Given the description of an element on the screen output the (x, y) to click on. 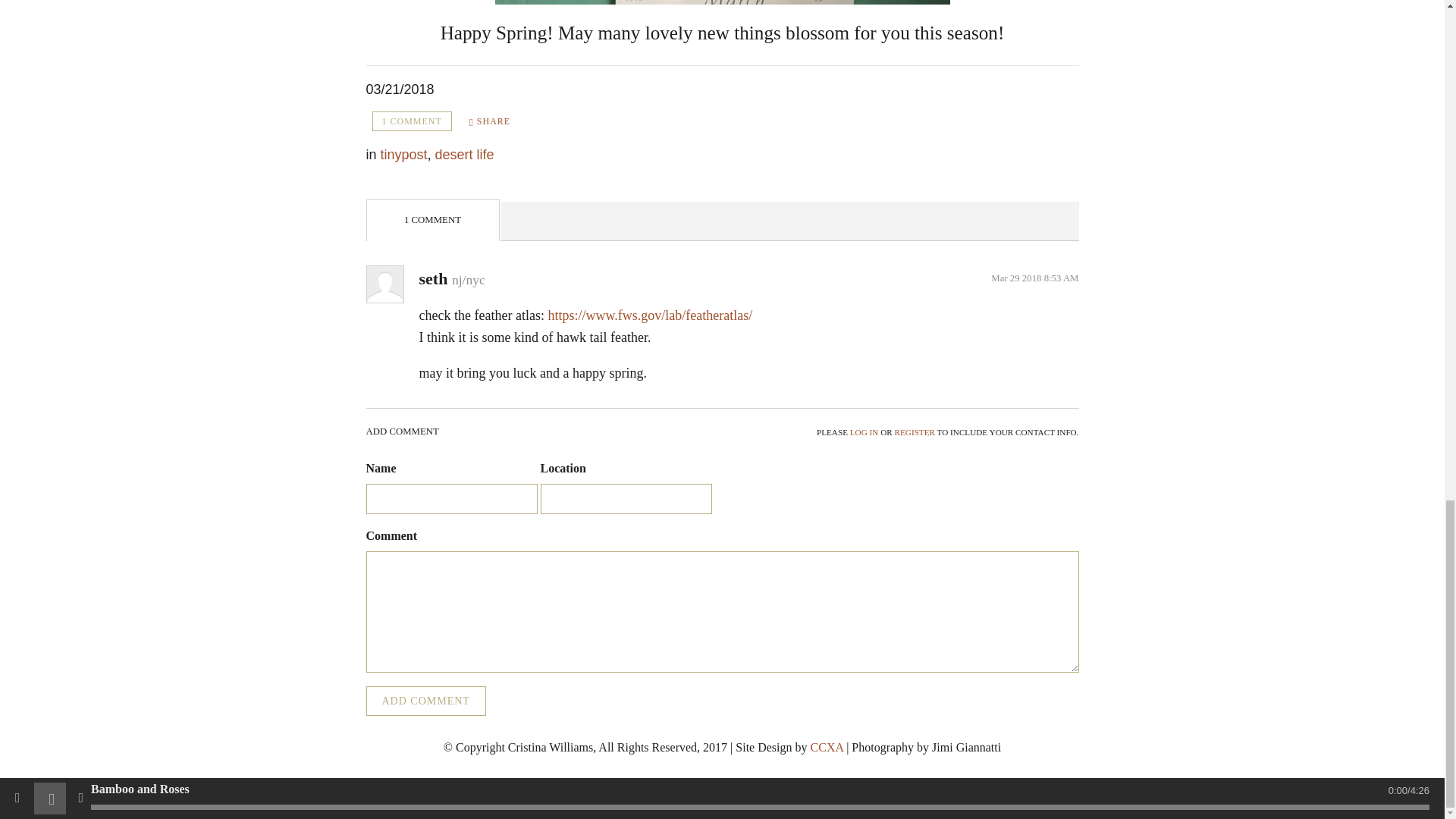
Share saguaro spring (489, 121)
desert life (465, 154)
ADD COMMENT (424, 701)
tinypost (404, 154)
SHARE (489, 121)
CCXA (827, 747)
1 COMMENT (411, 121)
REGISTER (914, 431)
LOG IN (864, 431)
1 comment (411, 121)
